Given the description of an element on the screen output the (x, y) to click on. 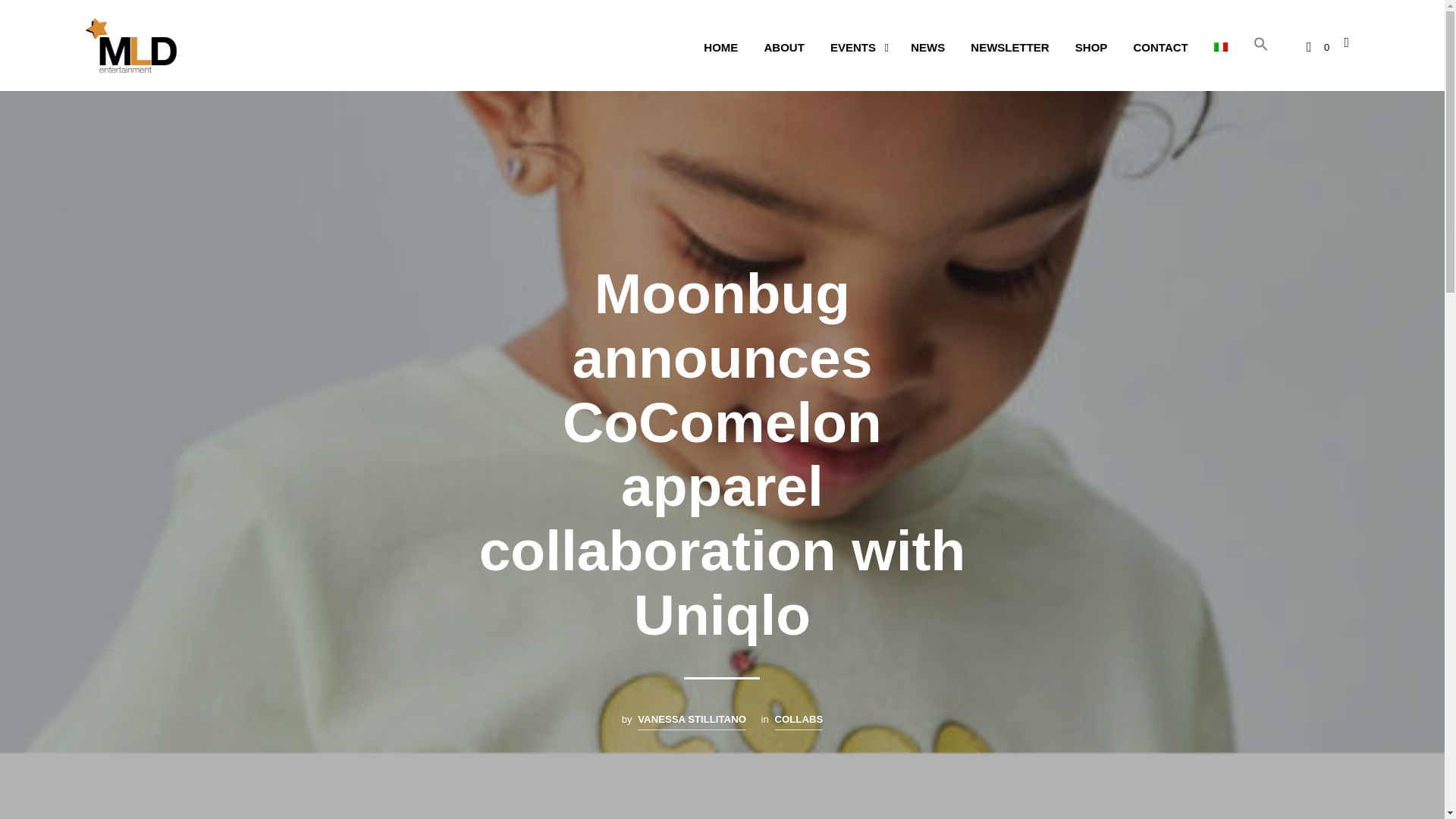
VANESSA STILLITANO (691, 720)
0 (1317, 47)
HOME (721, 47)
CONTACT (1160, 47)
NEWSLETTER (1009, 47)
EVENTS (852, 47)
COLLABS (799, 720)
View all posts by Vanessa Stillitano (691, 720)
ABOUT (783, 47)
SHOP (1091, 47)
NEWS (927, 47)
